Given the description of an element on the screen output the (x, y) to click on. 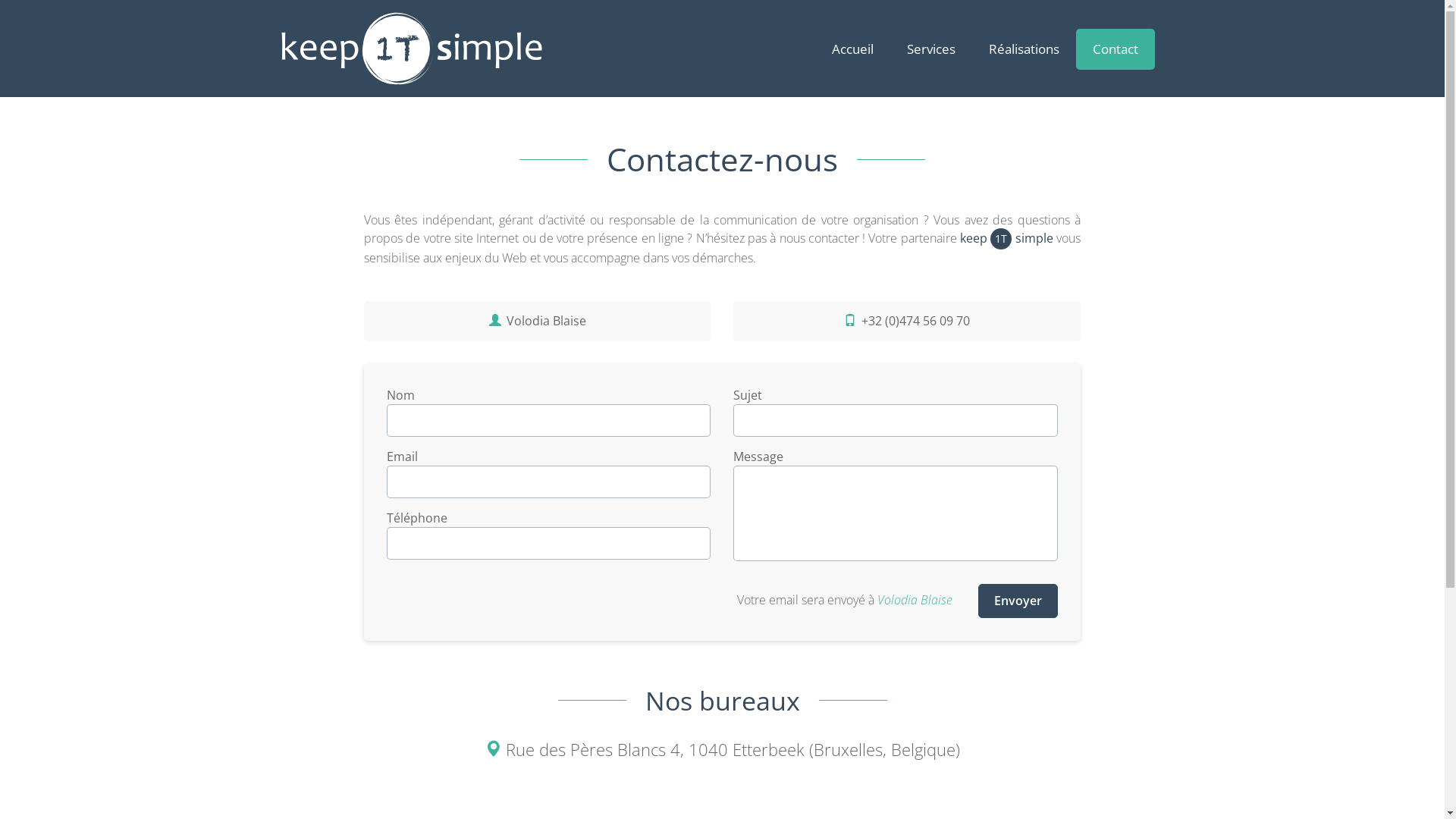
Contact Element type: text (1114, 48)
+32 (0)474 56 09 70 Element type: text (906, 321)
Services Element type: text (931, 48)
Volodia Blaise Element type: text (914, 599)
Envoyer Element type: text (1017, 600)
Accueil Element type: text (851, 48)
Volodia Blaise Element type: text (537, 321)
